Given the description of an element on the screen output the (x, y) to click on. 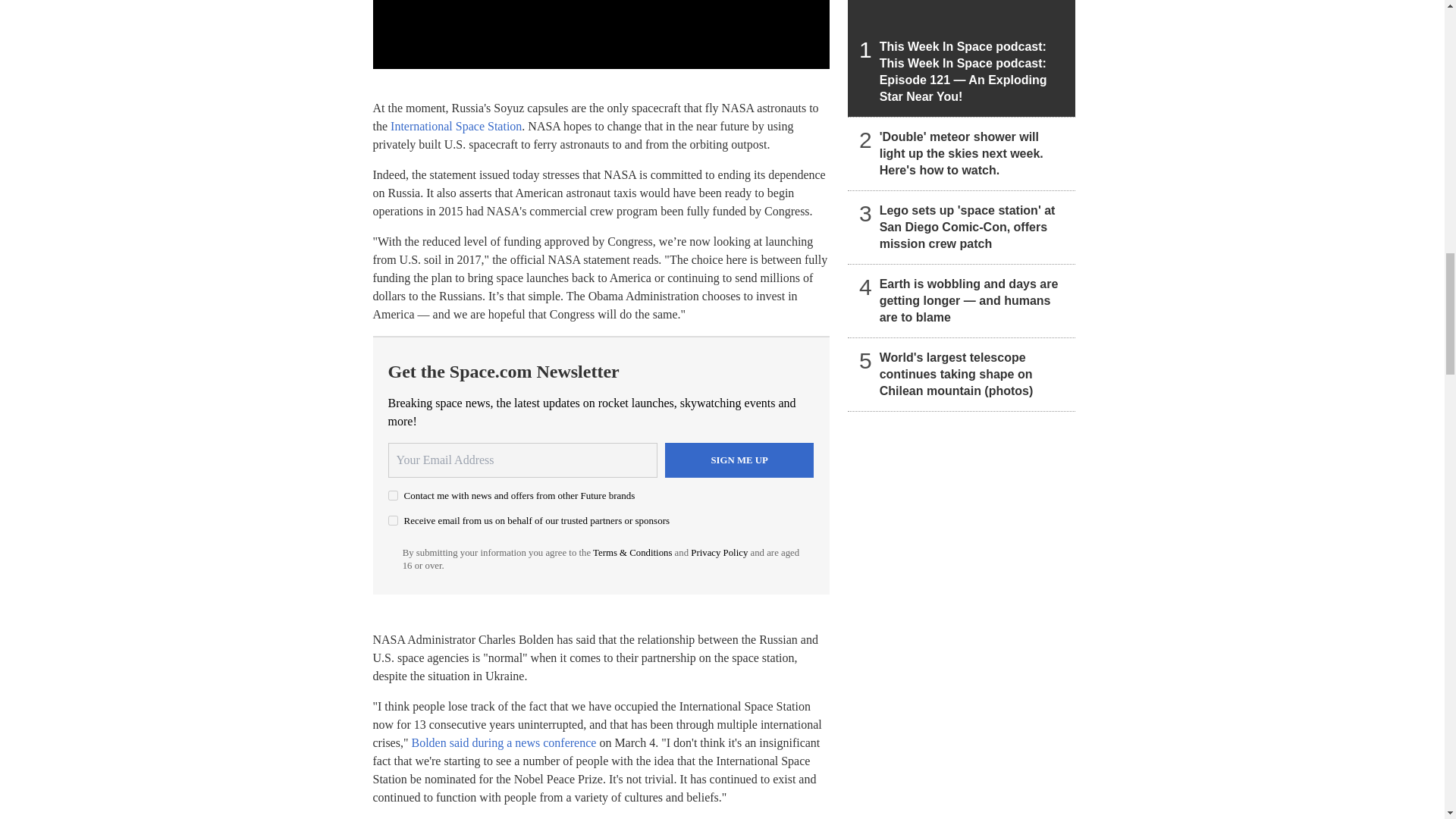
Sign me up (739, 460)
on (392, 520)
on (392, 495)
